Given the description of an element on the screen output the (x, y) to click on. 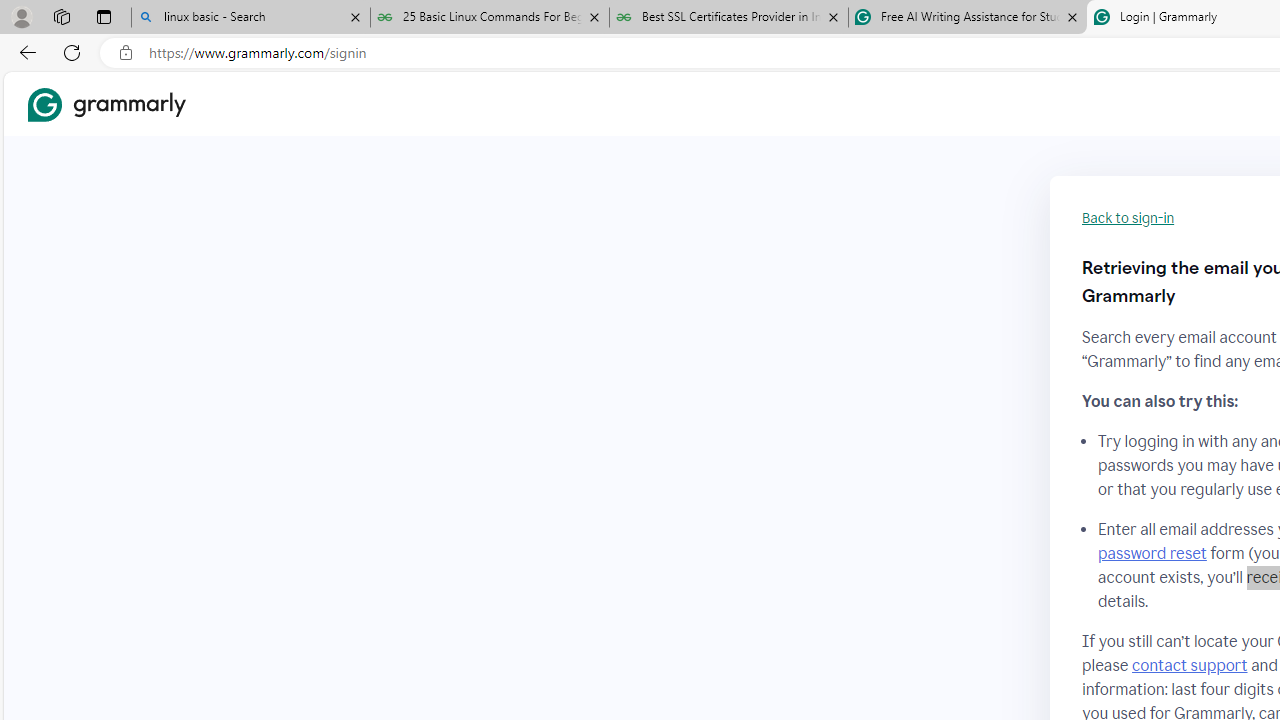
contact support (1189, 665)
